Given the description of an element on the screen output the (x, y) to click on. 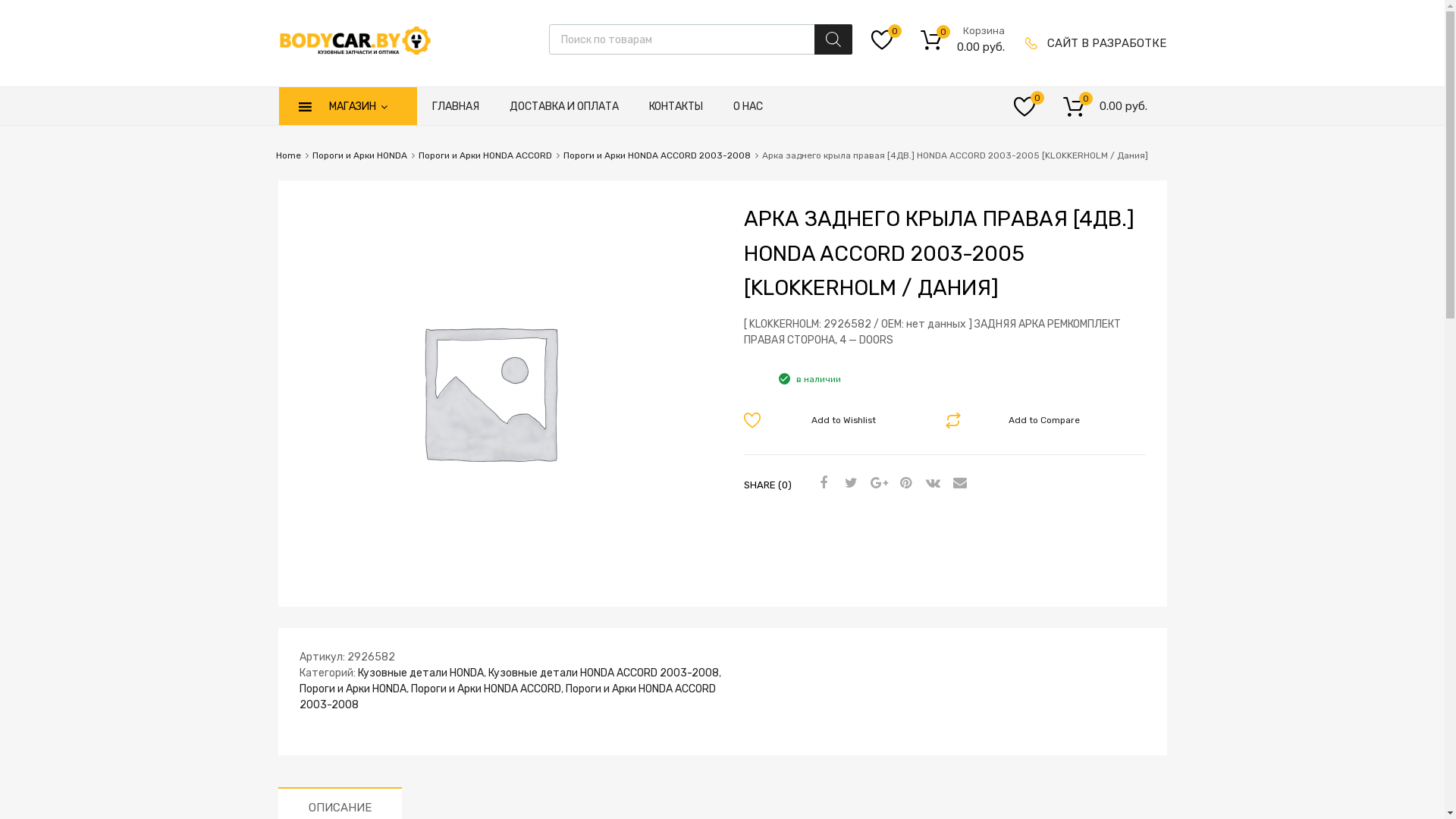
Share this article on Google+ Element type: hover (875, 483)
Share an image on Pinterest Element type: hover (903, 483)
Email this article to a friend Element type: hover (957, 483)
Share this article on Facebook Element type: hover (821, 483)
Share this article on Vkontakte Element type: hover (930, 483)
Home Element type: text (288, 155)
Add to Compare Element type: text (1035, 419)
Add to Wishlist Element type: text (833, 419)
Share this article on Twitter Element type: hover (848, 483)
